Given the description of an element on the screen output the (x, y) to click on. 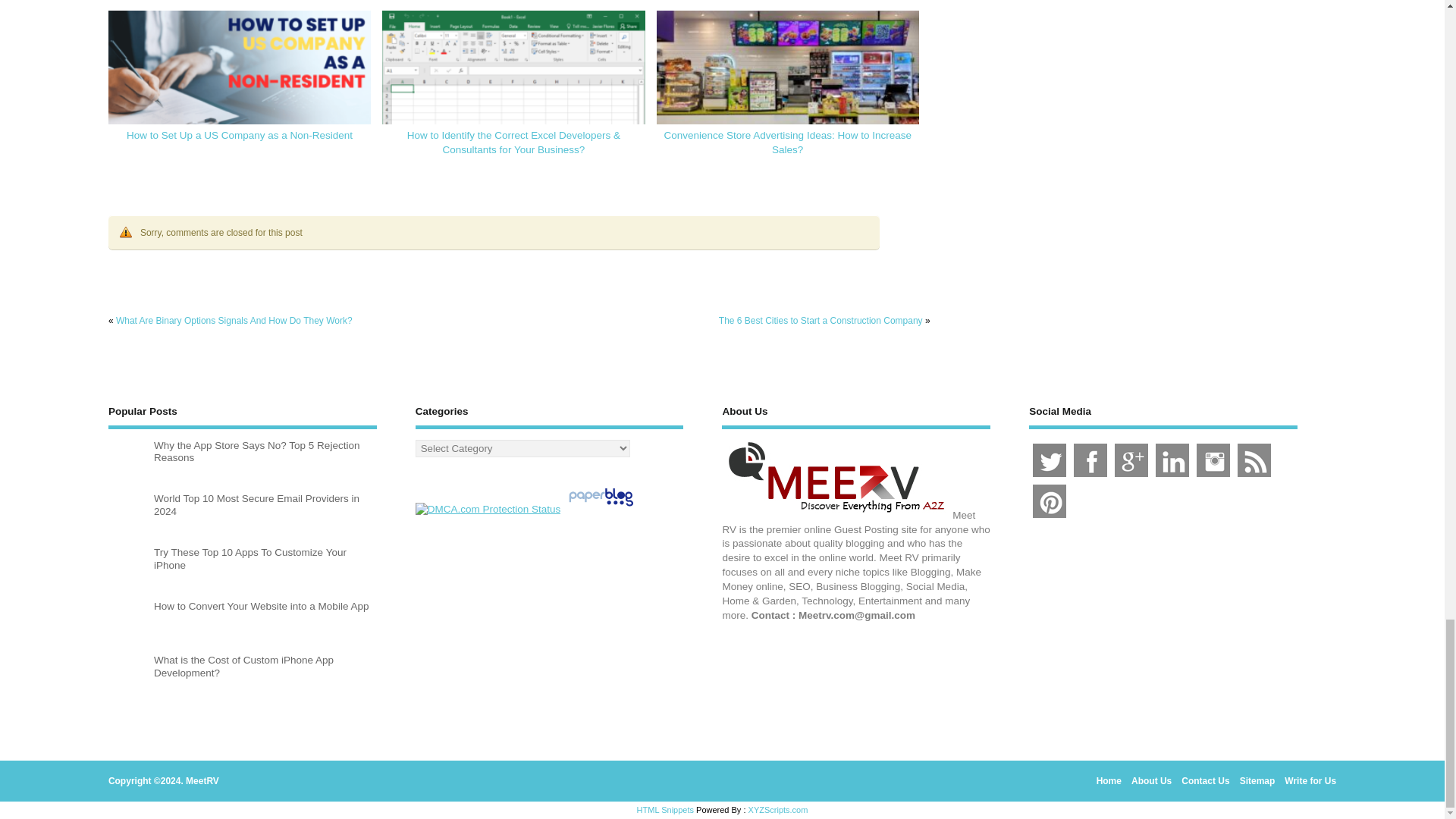
How to Set Up a US Company as a Non-Resident (239, 134)
How to Set Up a US Company as a Non-Resident (239, 84)
